Given the description of an element on the screen output the (x, y) to click on. 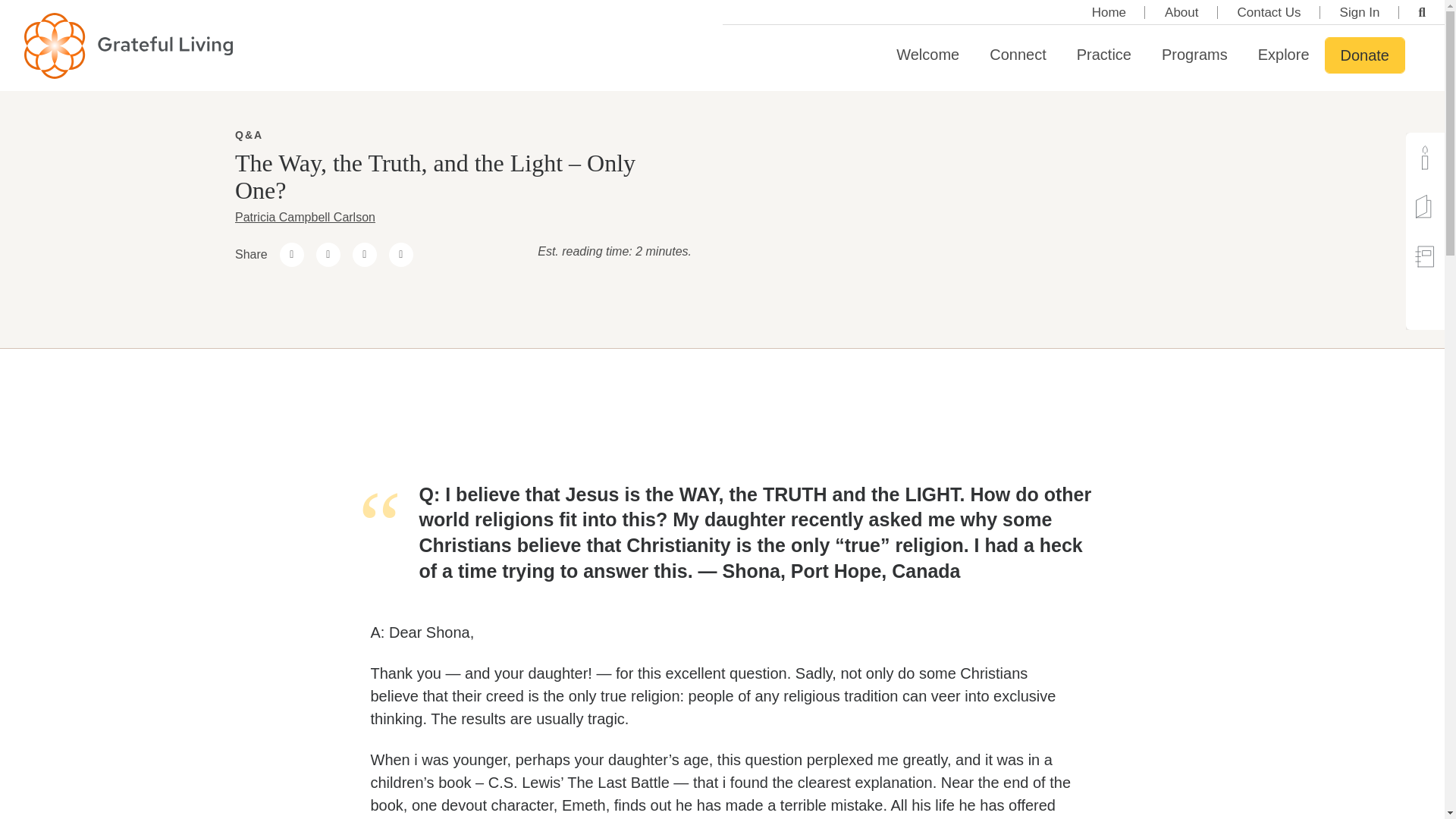
Connect (1017, 54)
Practice (1104, 54)
Contact Us (1269, 11)
Explore (1283, 54)
Donate (1364, 54)
Welcome (927, 54)
Share on Facebook (291, 254)
Share on Threads (327, 254)
Sign In (1359, 11)
search (1422, 11)
Programs (1195, 54)
Home (1109, 11)
Patricia Campbell Carlson (304, 216)
Share via Email (400, 254)
Patricia Campbell Carlson (304, 216)
